Given the description of an element on the screen output the (x, y) to click on. 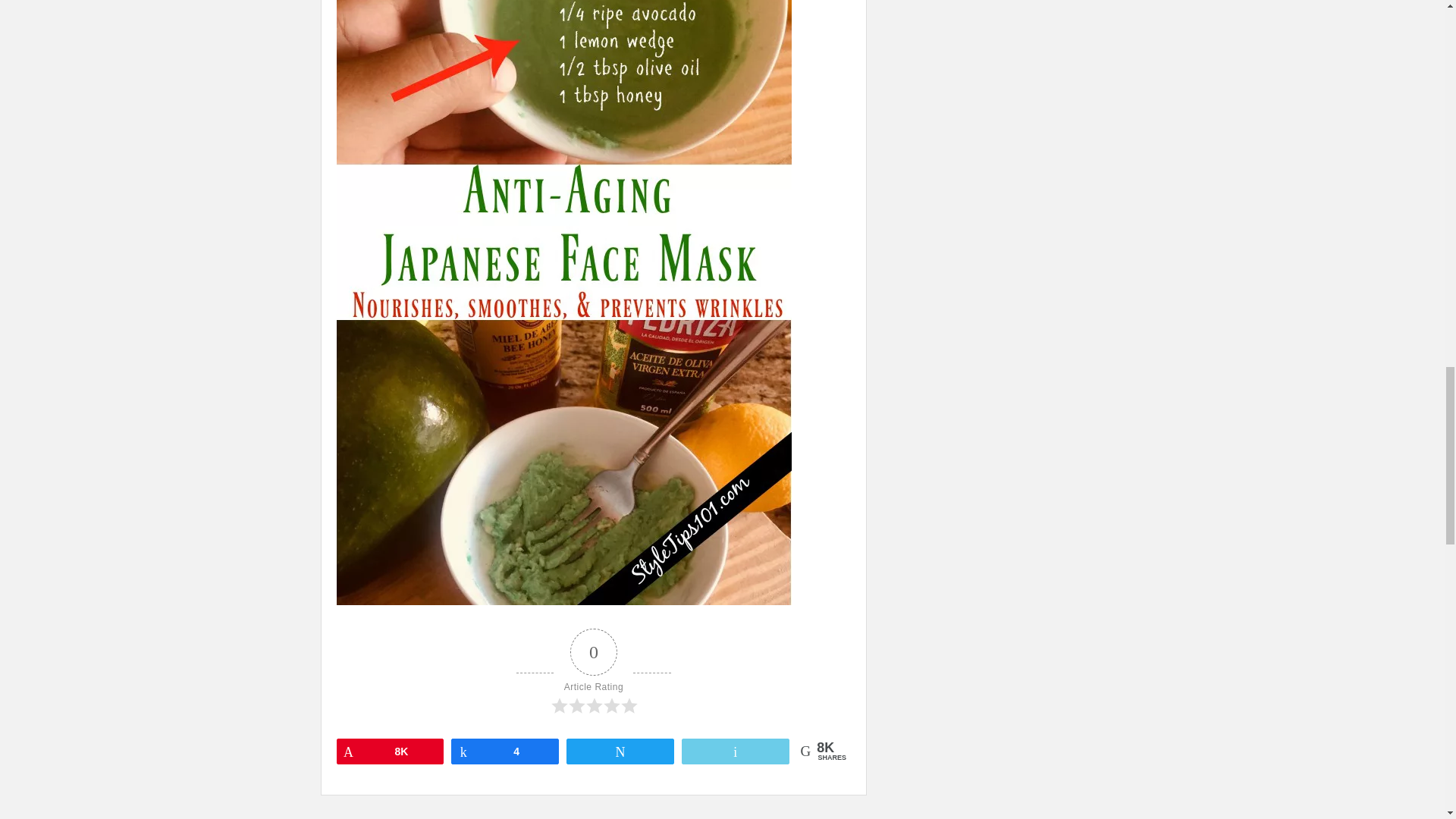
4 (504, 750)
8K (389, 750)
